Given the description of an element on the screen output the (x, y) to click on. 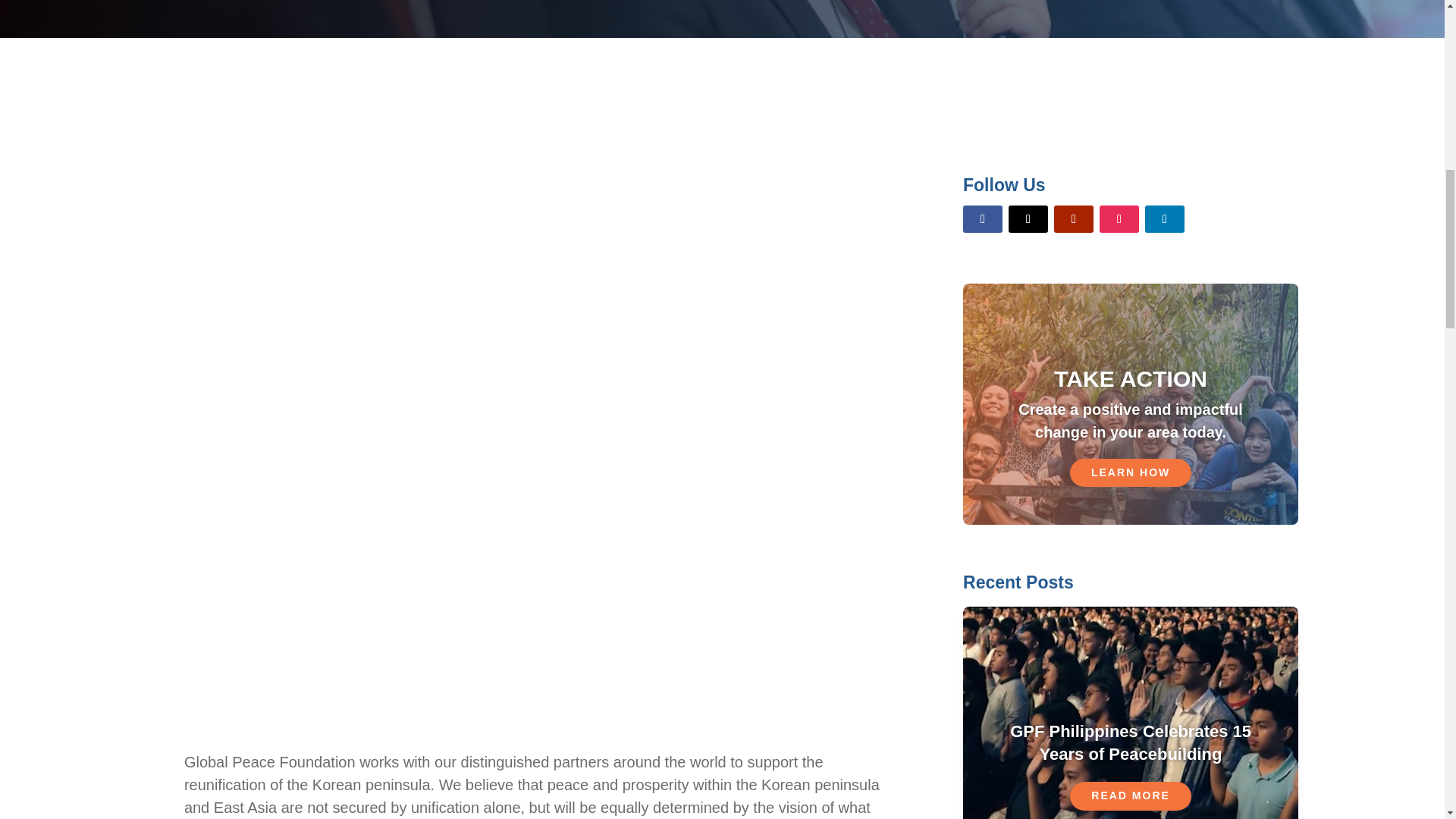
Follow on LinkedIn (1164, 218)
Follow on Youtube (1073, 218)
Follow on X (1028, 218)
Follow on Facebook (982, 218)
Follow on Instagram (1118, 218)
